Given the description of an element on the screen output the (x, y) to click on. 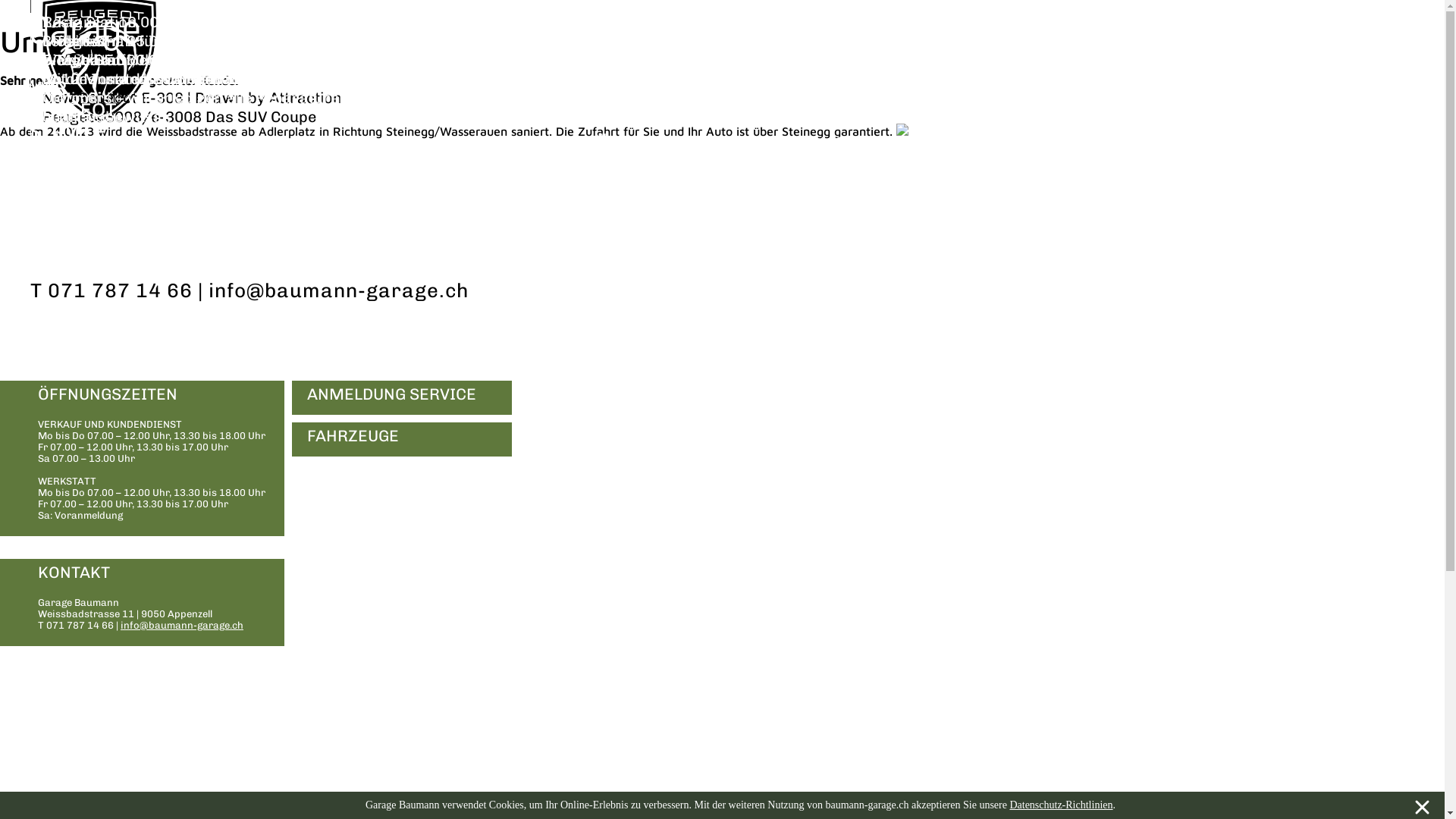
SERVICE Element type: text (68, 130)
T 071 787 14 66 Element type: text (111, 290)
FAHRZEUGE Element type: text (401, 439)
RESTAURATION Element type: text (100, 218)
Peugeot 3008/e-3008 Das SUV Coupe Element type: text (179, 116)
info@baumann-garage.ch Element type: text (181, 624)
WIR Element type: text (48, 86)
ENGAGEMENT Element type: text (86, 478)
AUTOIMPULS Element type: text (206, 478)
ANMELDUNG SERVICE Element type: text (401, 397)
NEUHEITEN Element type: text (82, 196)
info@baumann-garage.ch Element type: text (338, 290)
PEUGEOT Element type: text (73, 108)
Rufen Sie uns Element type: text (91, 97)
New Peugeot E-308 l Drawn by Attraction Element type: text (192, 97)
